Given the description of an element on the screen output the (x, y) to click on. 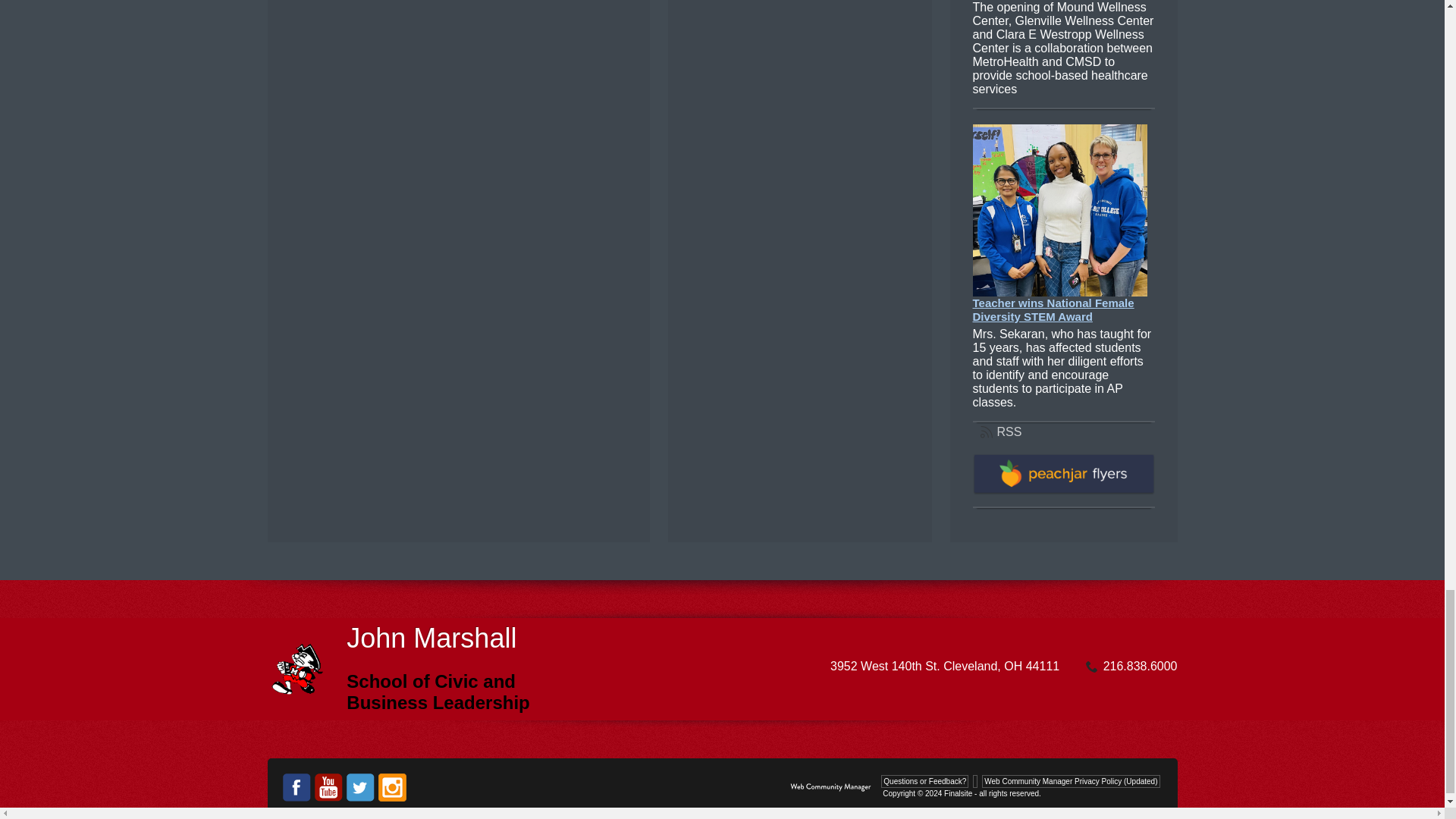
Subscribe to RSS Feed - In the District (1000, 431)
Peachjar Flyers (1063, 490)
